Given the description of an element on the screen output the (x, y) to click on. 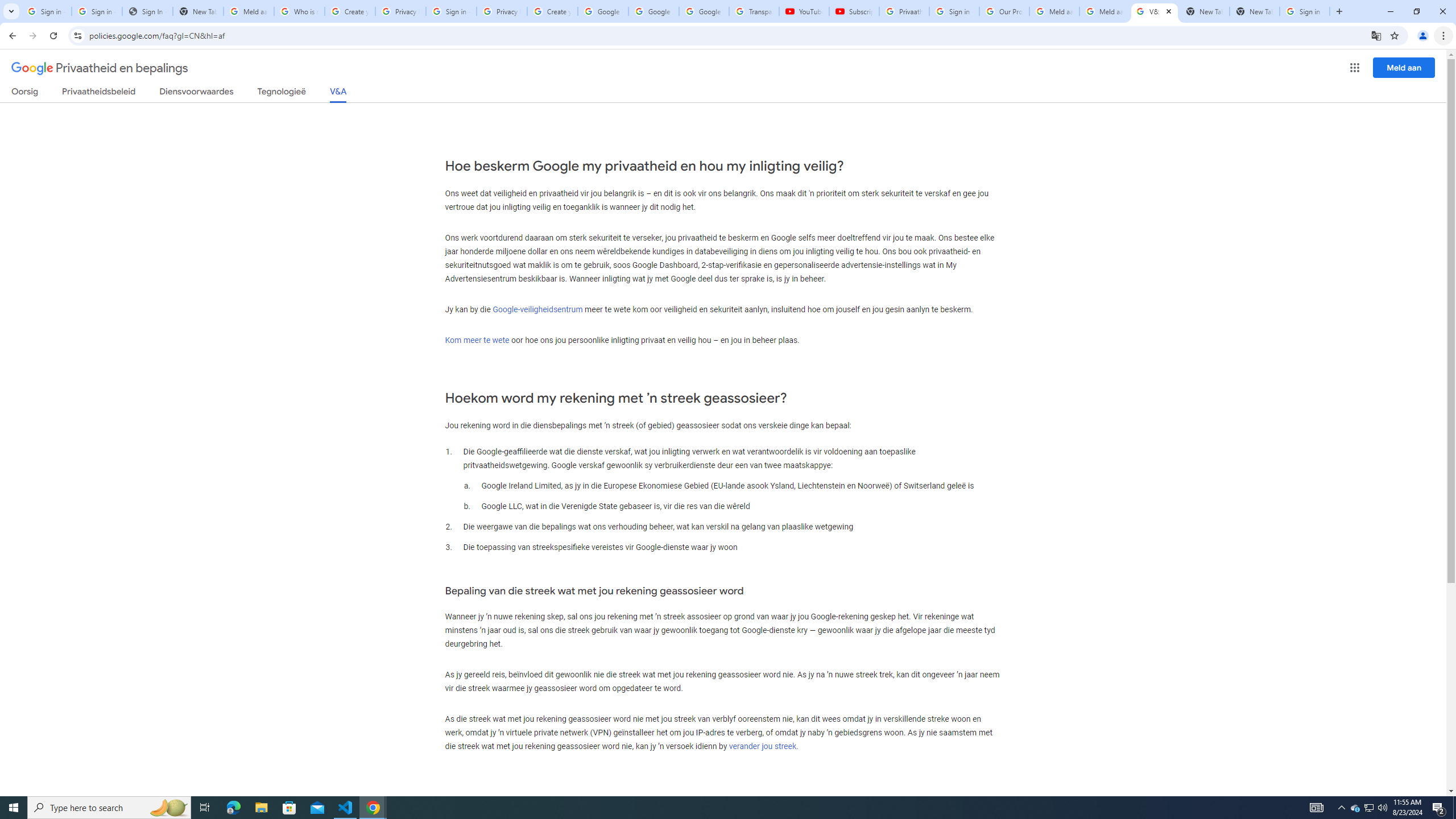
Kom meer te wete (476, 339)
Privaatheid en bepalings (99, 68)
New Tab (1254, 11)
Sign in - Google Accounts (1304, 11)
Sign In - USA TODAY (146, 11)
YouTube (804, 11)
